Given the description of an element on the screen output the (x, y) to click on. 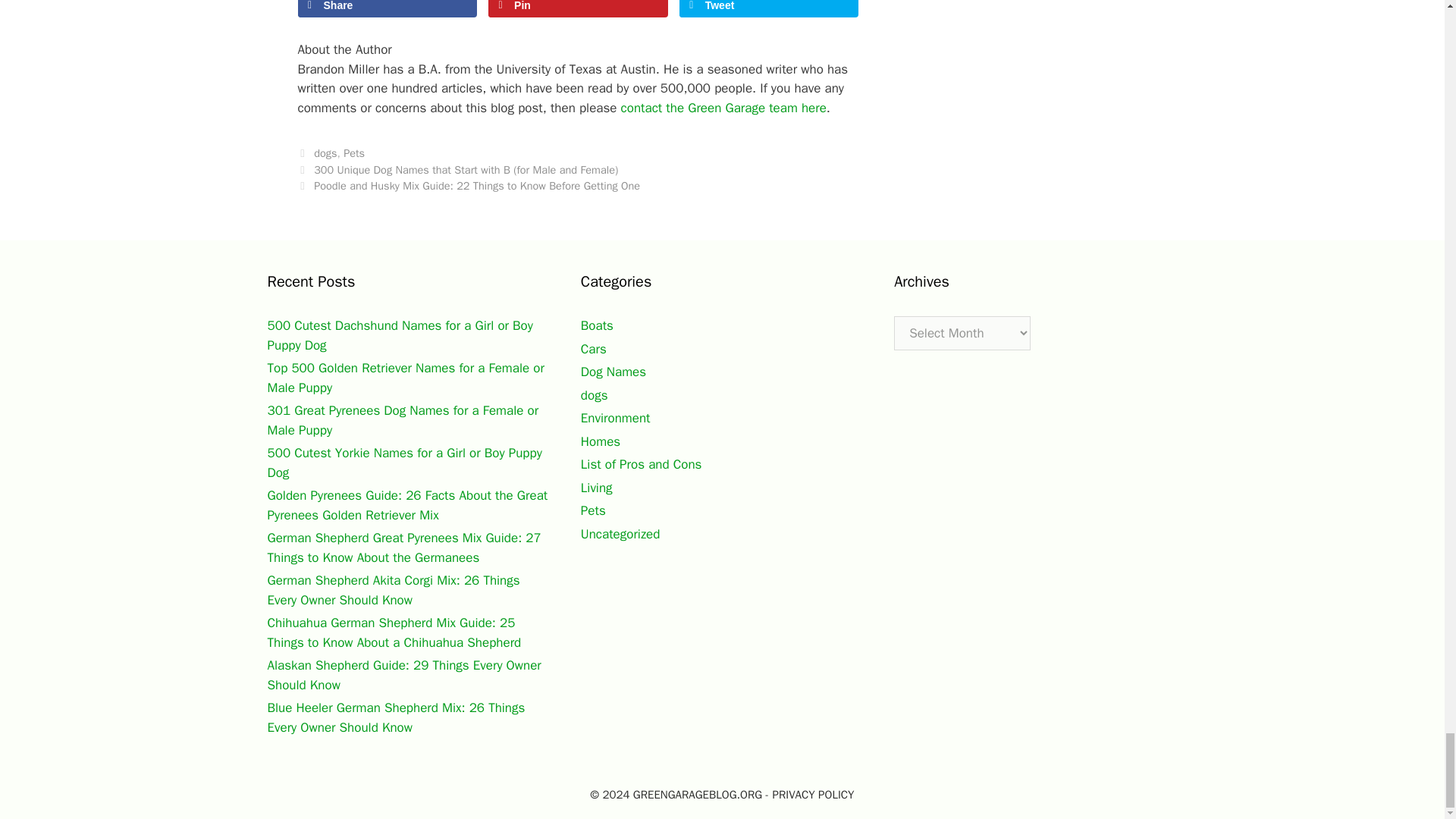
Share (387, 8)
Tweet (769, 8)
500 Cutest Yorkie Names for a Girl or Boy Puppy Dog (403, 462)
Pets (354, 152)
Next (468, 185)
500 Cutest Dachshund Names for a Girl or Boy Puppy Dog (399, 334)
Boats (596, 325)
Alaskan Shepherd Guide: 29 Things Every Owner Should Know (403, 674)
contact the Green Garage team here (724, 107)
Previous (457, 169)
Top 500 Golden Retriever Names for a Female or Male Puppy (404, 377)
301 Great Pyrenees Dog Names for a Female or Male Puppy (402, 420)
